Given the description of an element on the screen output the (x, y) to click on. 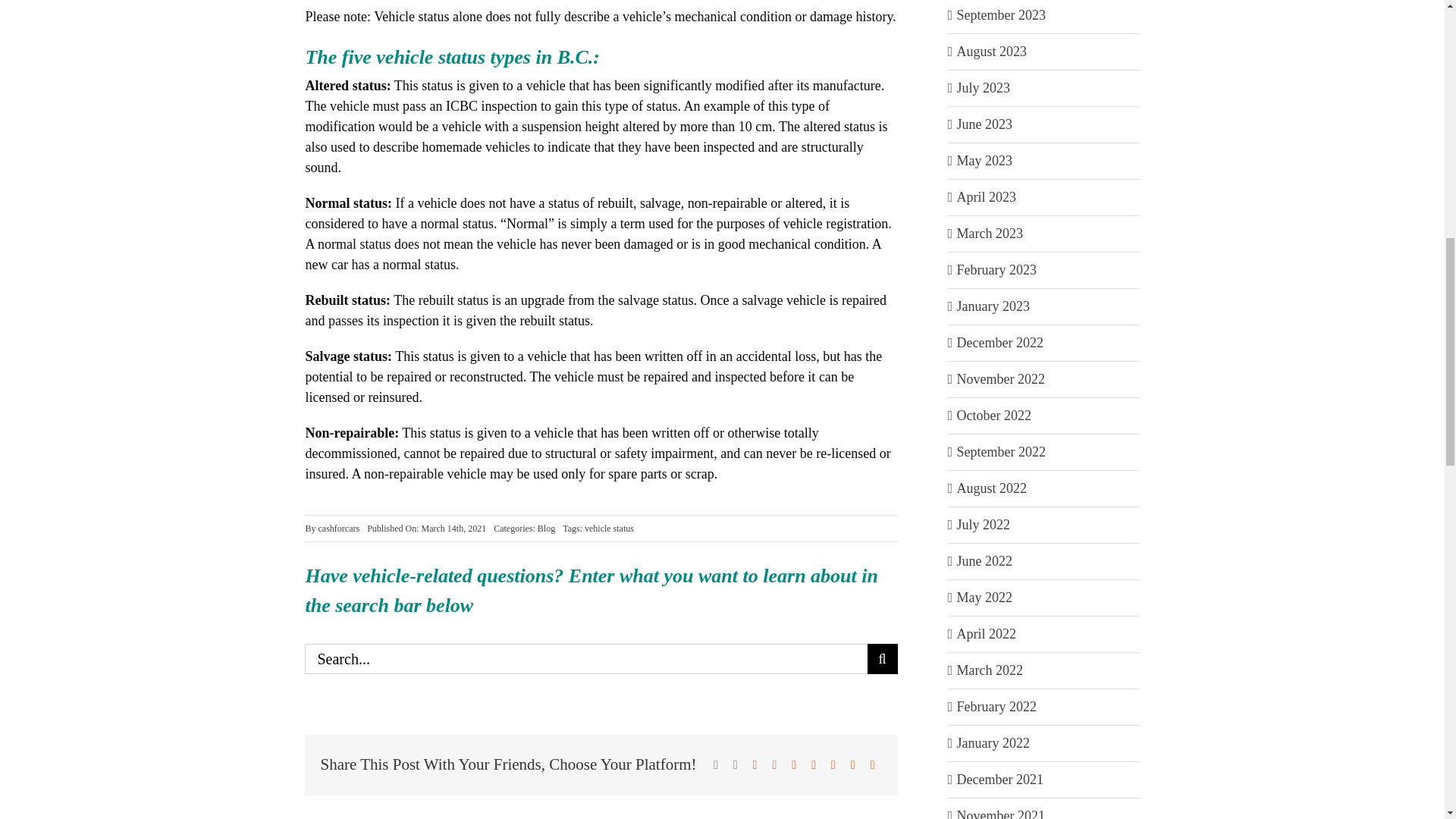
Reddit (755, 764)
Vk (853, 764)
Twitter (735, 764)
Tumblr (813, 764)
WhatsApp (793, 764)
Email (872, 764)
Posts by cashforcars (338, 528)
LinkedIn (774, 764)
Facebook (715, 764)
Pinterest (833, 764)
